Given the description of an element on the screen output the (x, y) to click on. 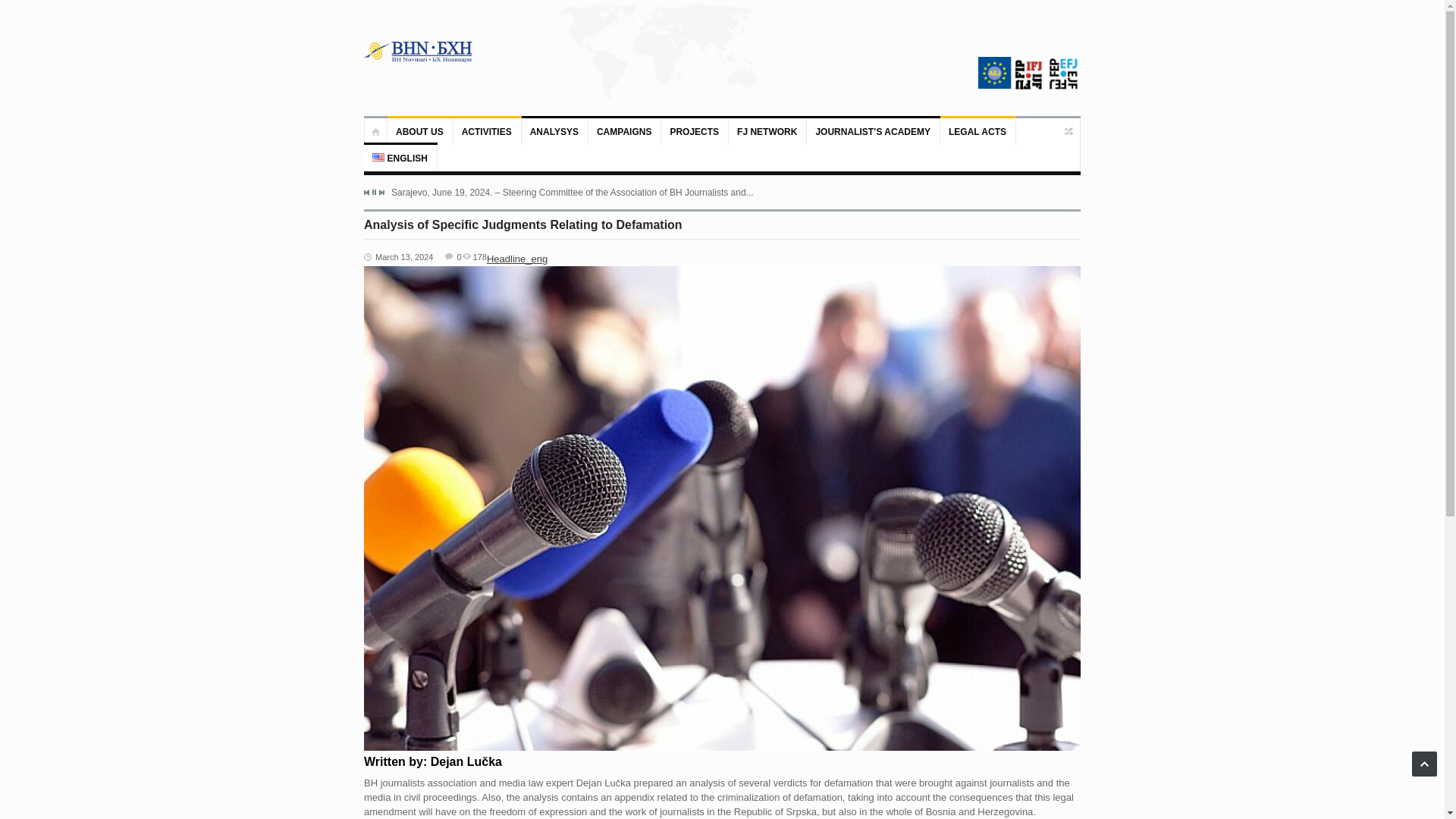
CAMPAIGNS (624, 130)
ANALYSYS (554, 130)
FJ NETWORK (767, 130)
ABOUT US (419, 130)
ACTIVITIES (486, 130)
PROJECTS (695, 130)
LEGAL ACTS (978, 130)
BH novinari (419, 51)
